Given the description of an element on the screen output the (x, y) to click on. 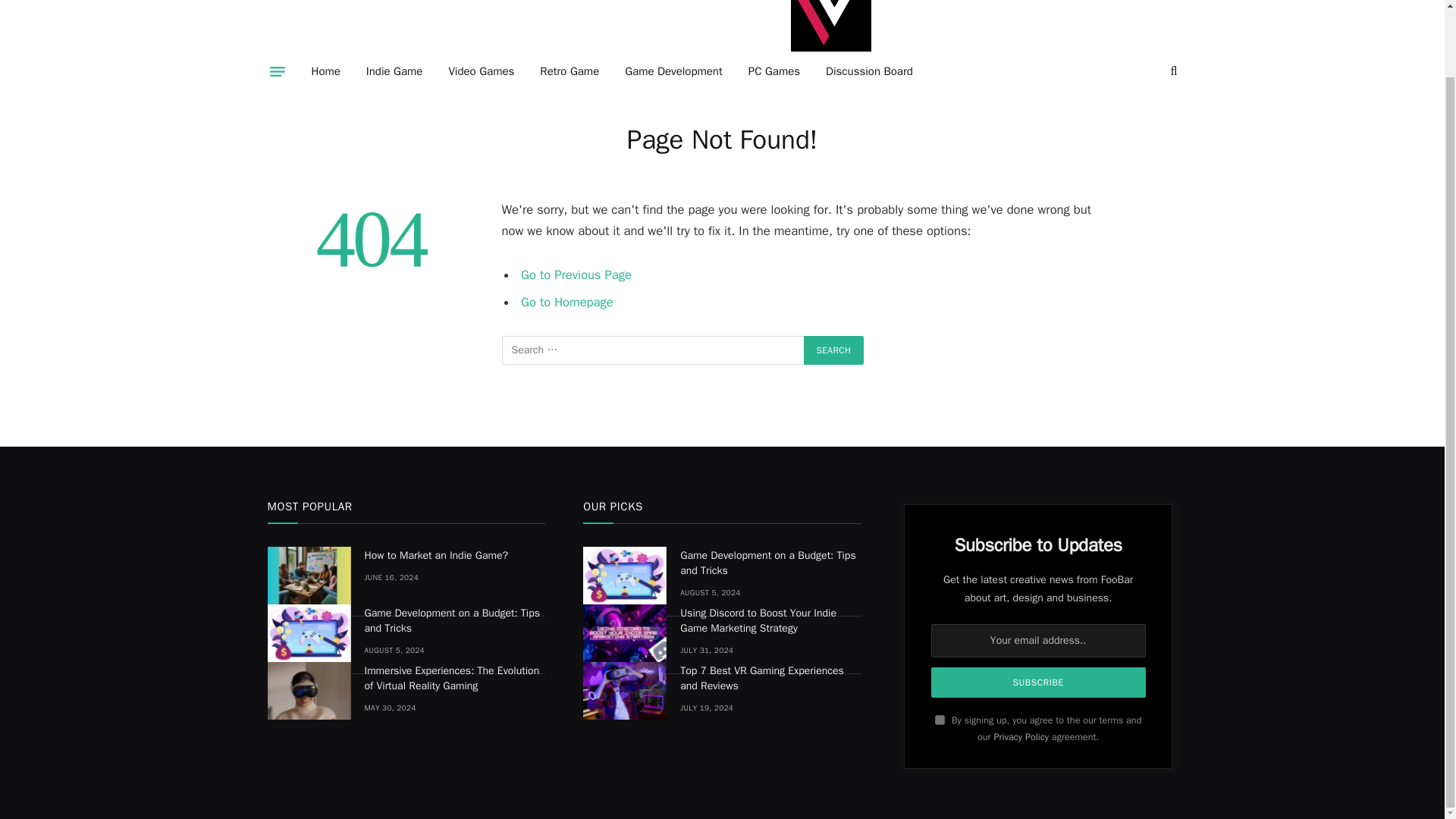
Discussion Board (869, 70)
How to Market an Indie Game? (308, 575)
Retro Game (569, 70)
Game Development on a Budget: Tips and Tricks (308, 632)
Go to Previous Page (576, 274)
Using Discord to Boost Your Indie Game Marketing Strategy (624, 632)
Game Development on a Budget: Tips and Tricks (624, 575)
Indie Game (394, 70)
Video Games (481, 70)
Top 7 Best VR Gaming Experiences and Reviews (624, 690)
How to Market an Indie Game? (454, 555)
Search (833, 349)
Game Development (673, 70)
Search (833, 349)
